Given the description of an element on the screen output the (x, y) to click on. 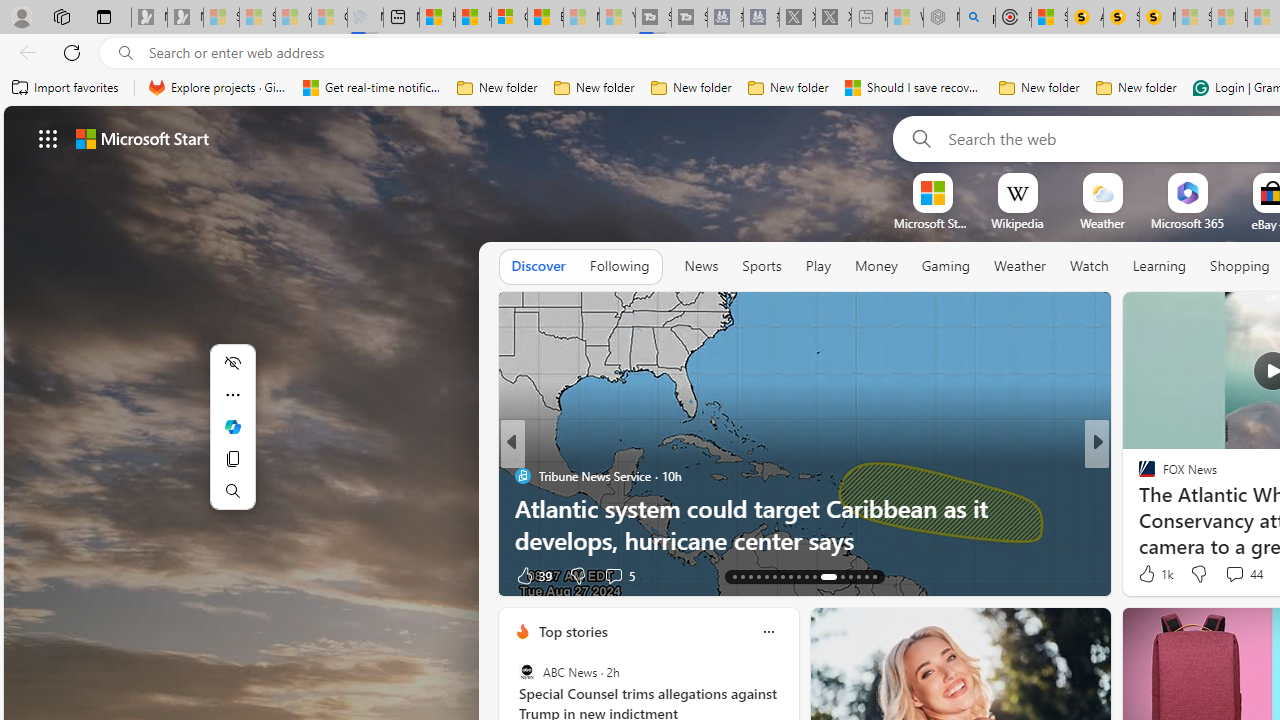
AutomationID: tab-24 (821, 576)
View comments 77 Comment (11, 575)
Microsoft start (142, 138)
Overview (509, 17)
5 Like (1145, 574)
View comments 44 Comment (1243, 574)
Should I save recovered Word documents? - Microsoft Support (913, 88)
AutomationID: tab-17 (765, 576)
AutomationID: tab-14 (742, 576)
